Given the description of an element on the screen output the (x, y) to click on. 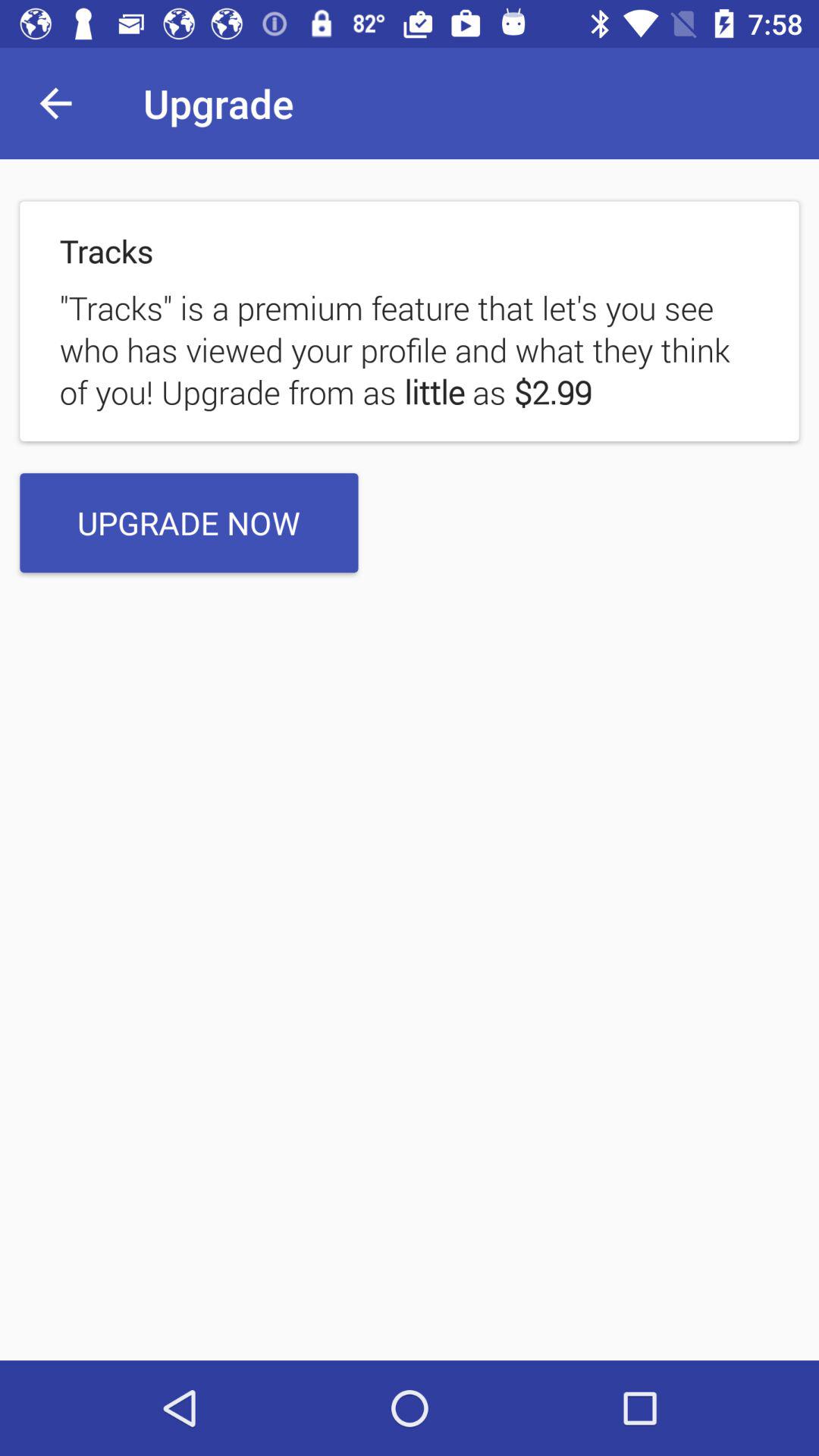
choose item above the tracks (55, 103)
